Given the description of an element on the screen output the (x, y) to click on. 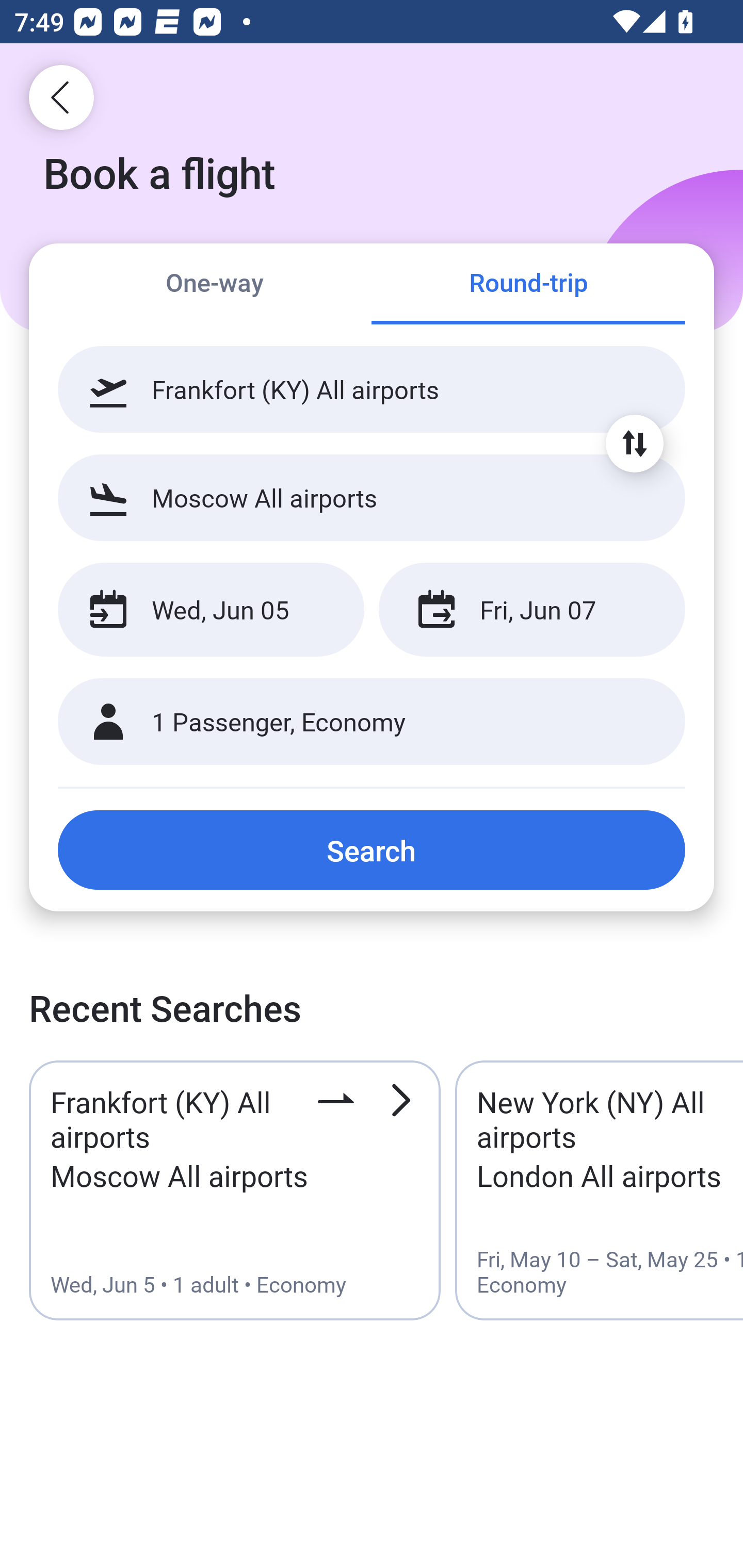
One-way (214, 284)
Frankfort (KY) All airports (371, 389)
Moscow All airports (371, 497)
Wed, Jun 05 (210, 609)
Fri, Jun 07 (531, 609)
1 Passenger, Economy (371, 721)
Search (371, 849)
